Given the description of an element on the screen output the (x, y) to click on. 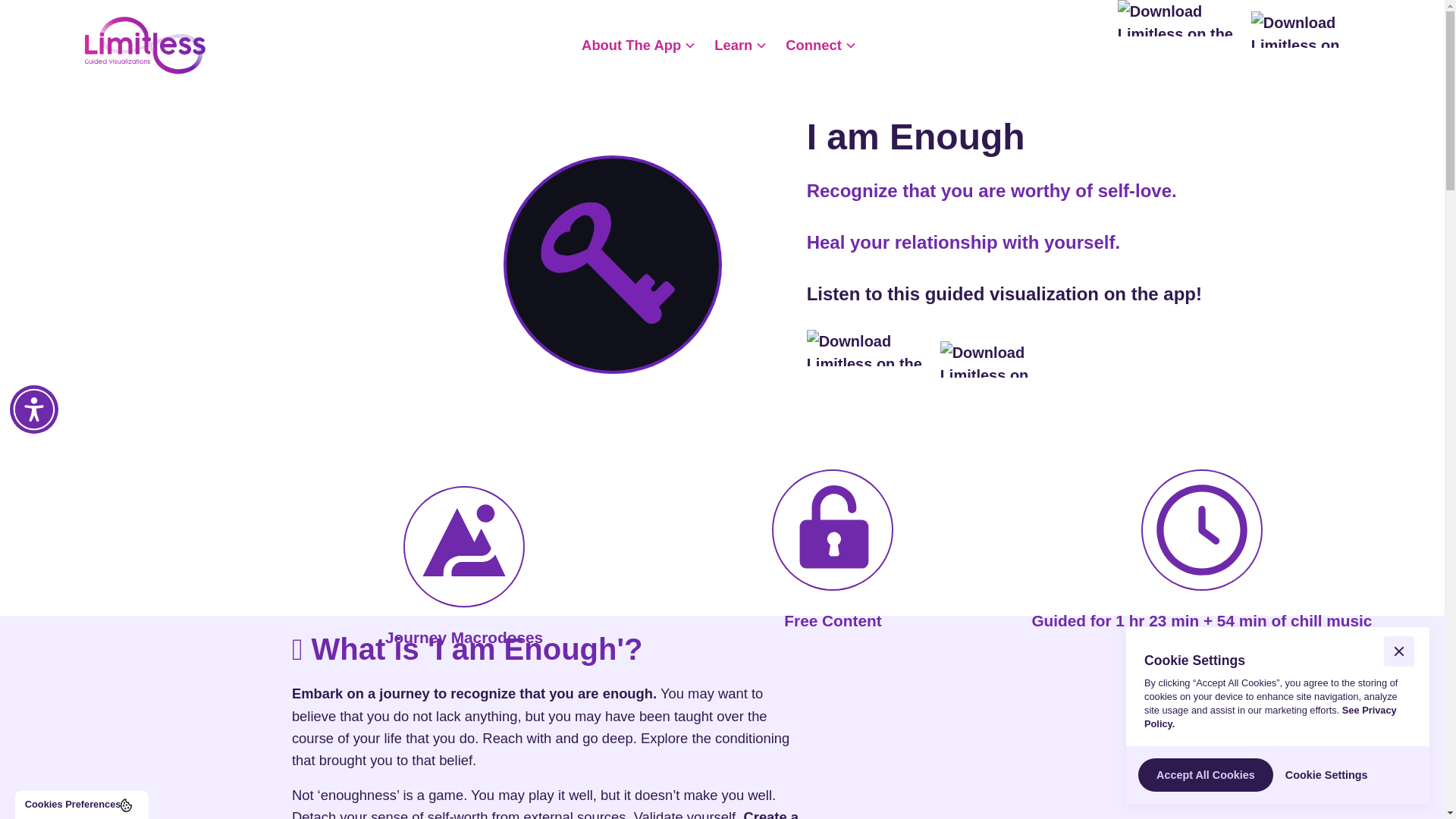
Cookie Settings (1326, 774)
Close Cookie Popup (1398, 651)
See Privacy Policy. (1270, 716)
Accessibility Menu (34, 409)
Accept All Cookies (1205, 774)
Cookies Preferences (81, 805)
